Given the description of an element on the screen output the (x, y) to click on. 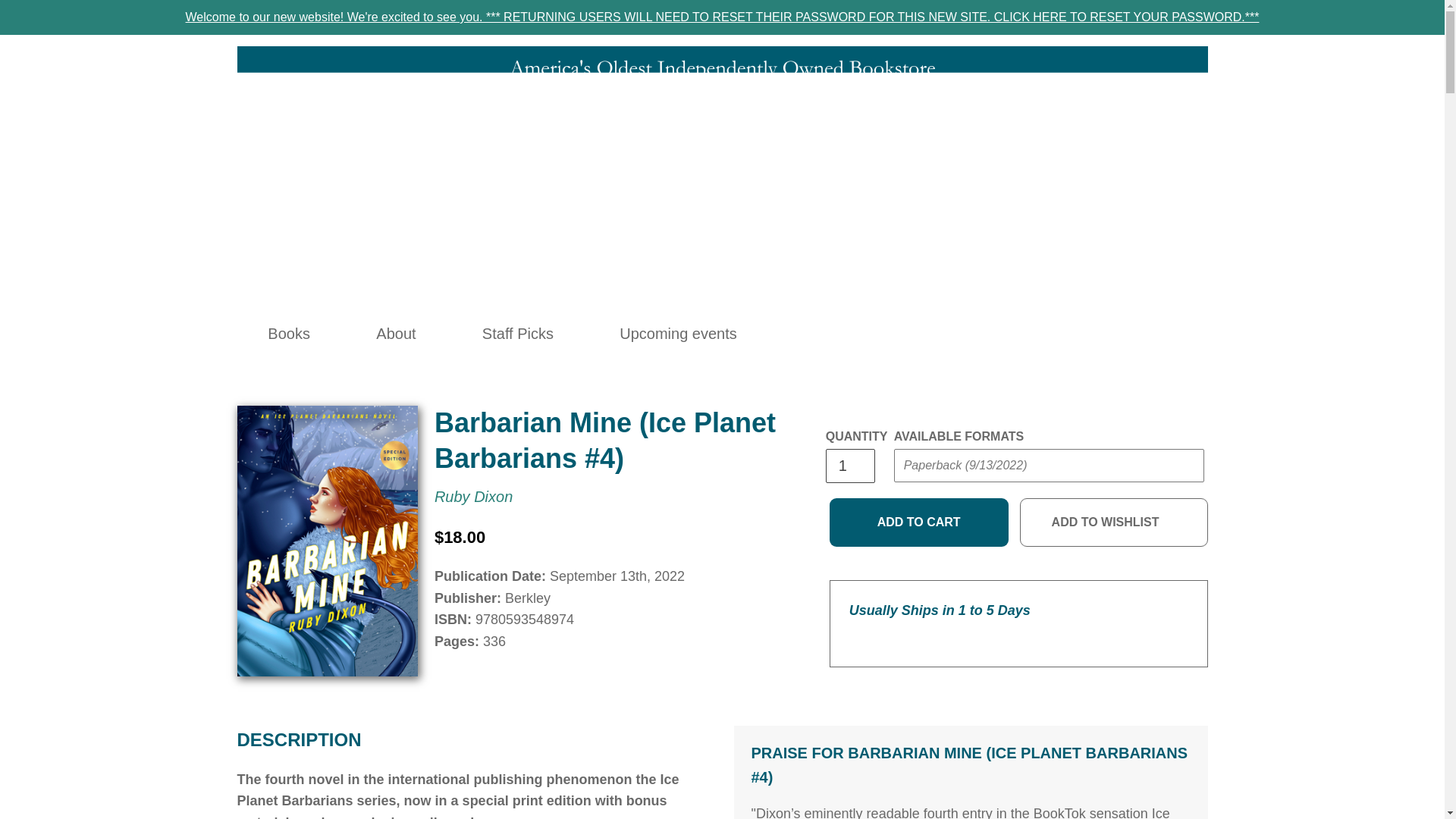
Submit (922, 495)
Search (989, 333)
Upcoming events (678, 333)
SEARCH (989, 333)
Add to cart (919, 522)
Ruby Dixon (472, 496)
1 (850, 465)
Log in (1022, 333)
Staff Picks (517, 333)
Cart (1088, 333)
